Given the description of an element on the screen output the (x, y) to click on. 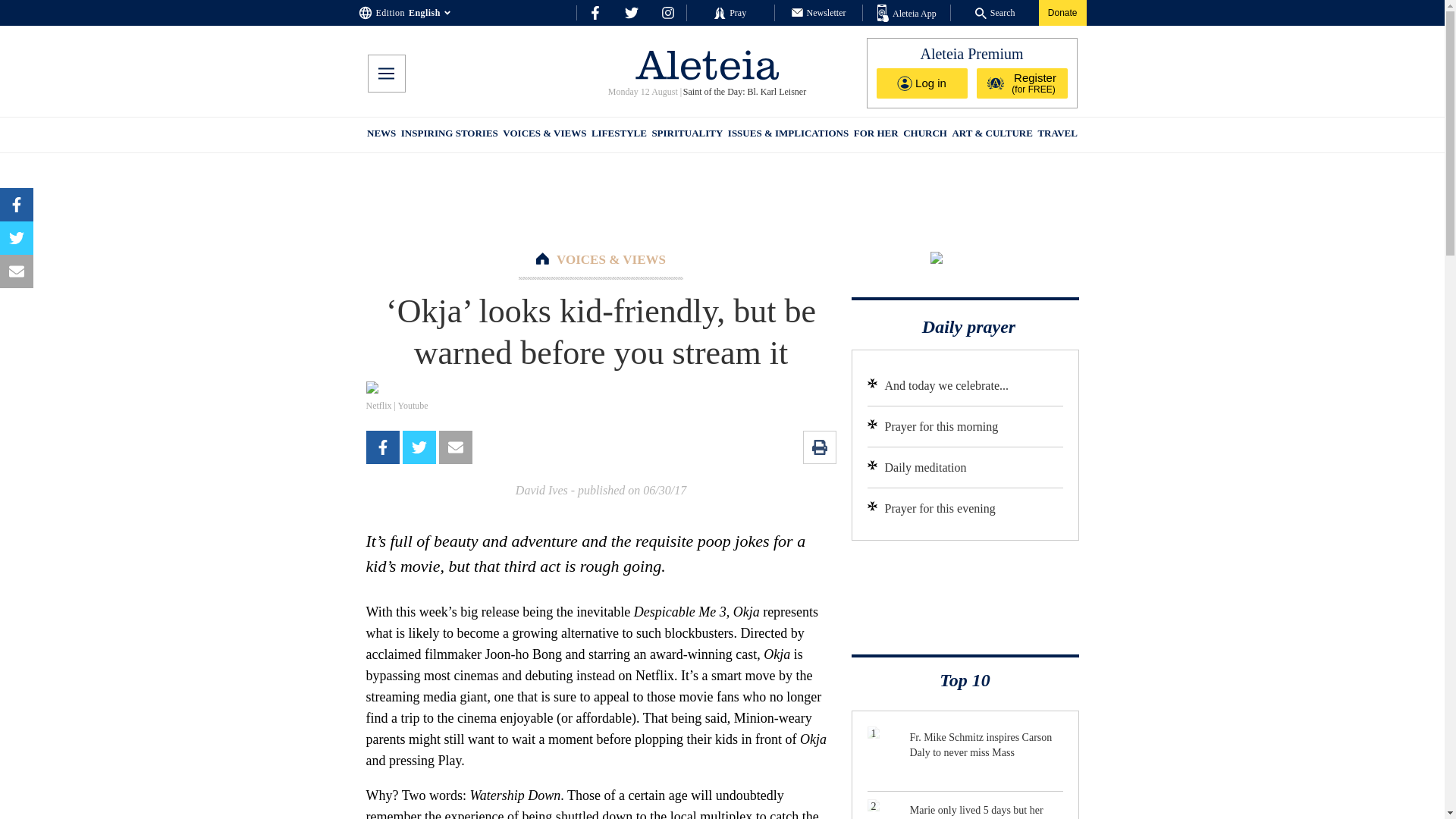
Pray (729, 12)
David Ives (541, 490)
mobile-menu-btn (385, 73)
Aleteia App (906, 13)
FOR HER (875, 134)
social-tw-top-row (631, 12)
social-ig-top-row (668, 12)
Newsletter (818, 12)
Log in (922, 82)
Search (994, 12)
